Given the description of an element on the screen output the (x, y) to click on. 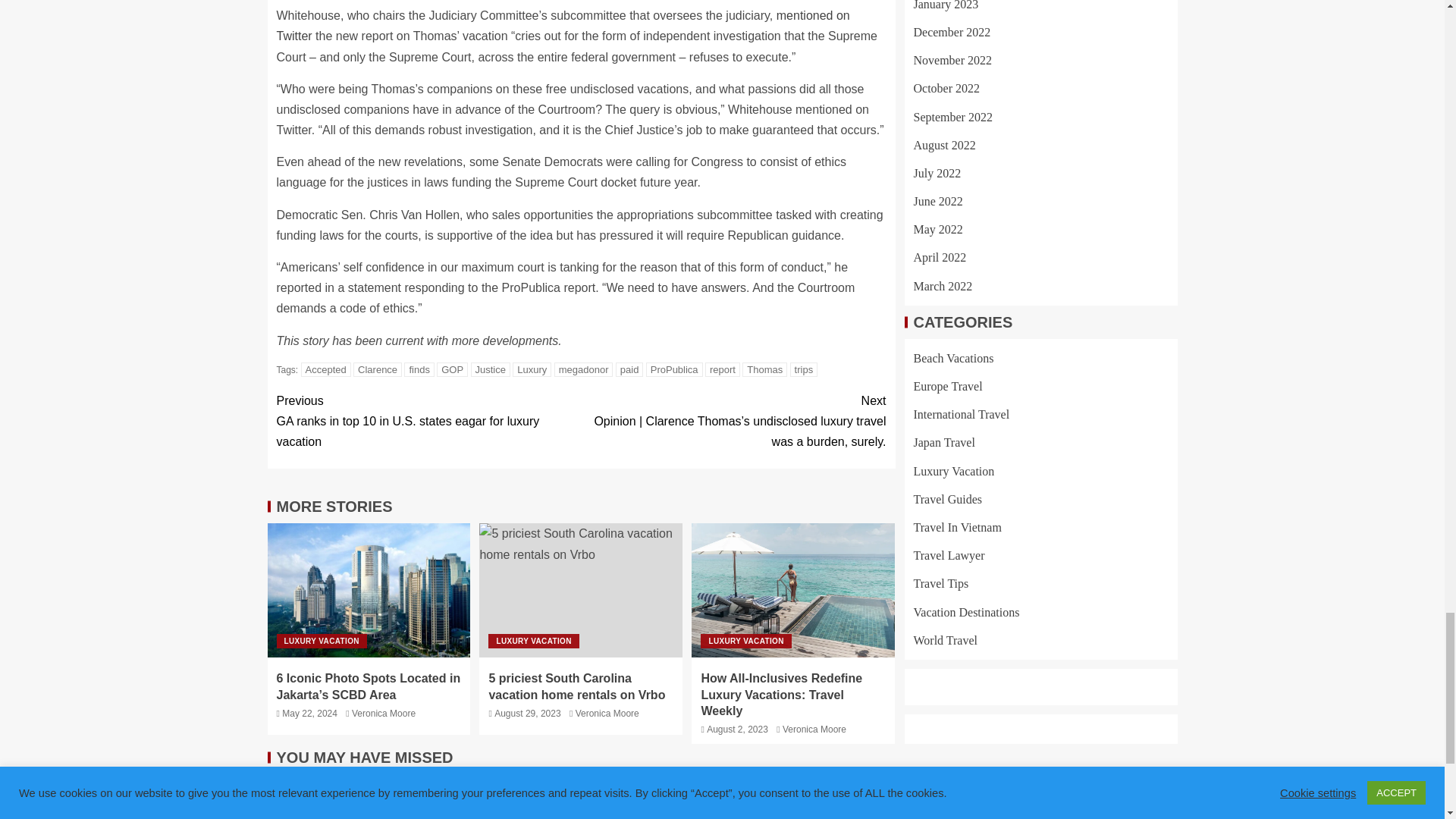
GOP (451, 369)
Embracing Hope The Pilgrims of 2025 and the Jubilee Year (376, 796)
mentioned on Twitter (562, 25)
trips (804, 369)
paid (629, 369)
Luxury (531, 369)
17 Most Beautiful Beaches in the World (1066, 796)
finds (418, 369)
How All-Inclusives Redefine Luxury Vacations: Travel Weekly (793, 590)
5 priciest South Carolina vacation home rentals on Vrbo (580, 590)
